Given the description of an element on the screen output the (x, y) to click on. 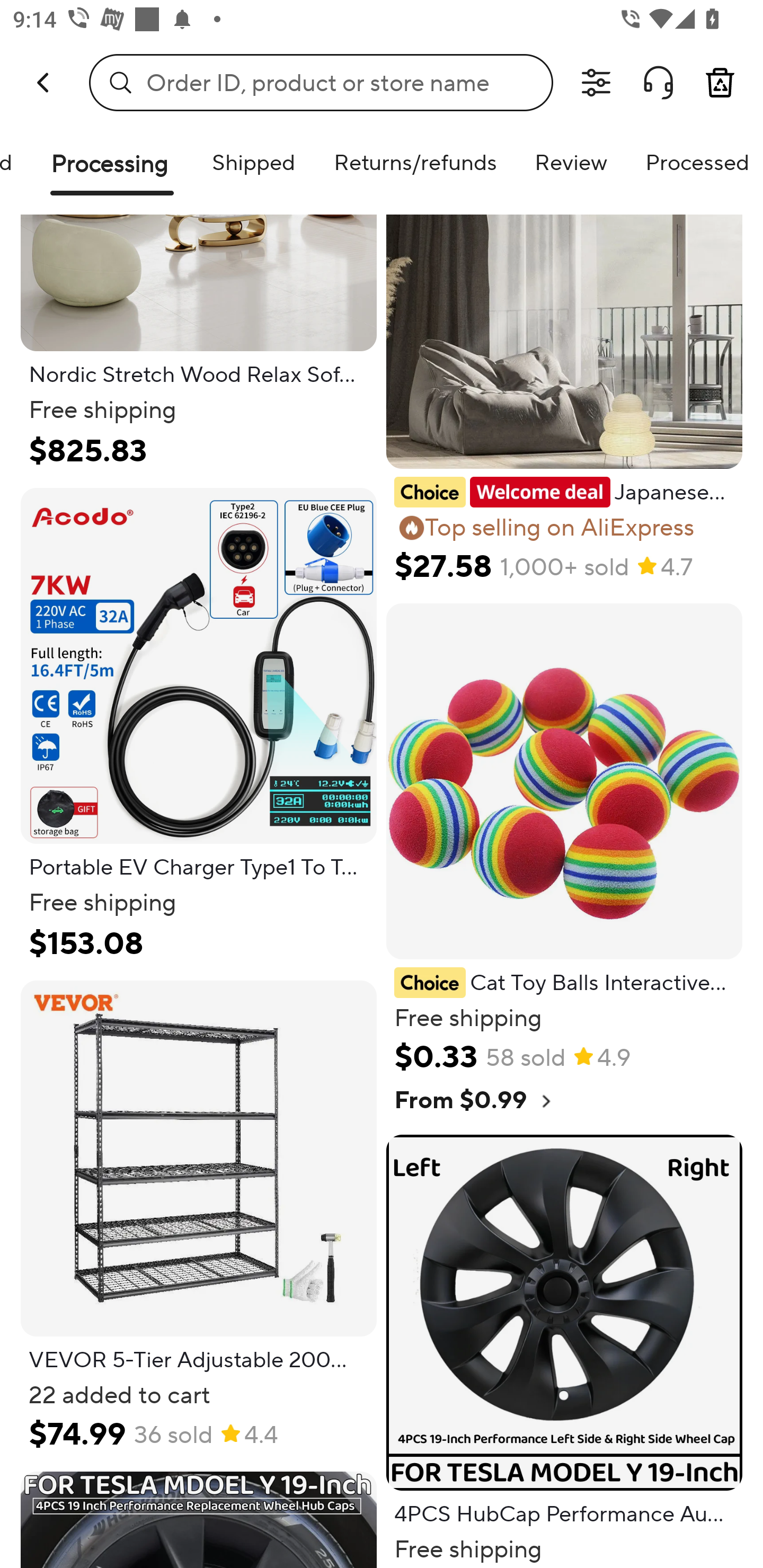
Navigate up (44, 82)
 Order ID, product or store name (321, 82)
 (595, 82)
 (658, 82)
Processing (112, 170)
Shipped (253, 162)
Returns/refunds (414, 162)
Review (570, 162)
Processed (694, 162)
